Given the description of an element on the screen output the (x, y) to click on. 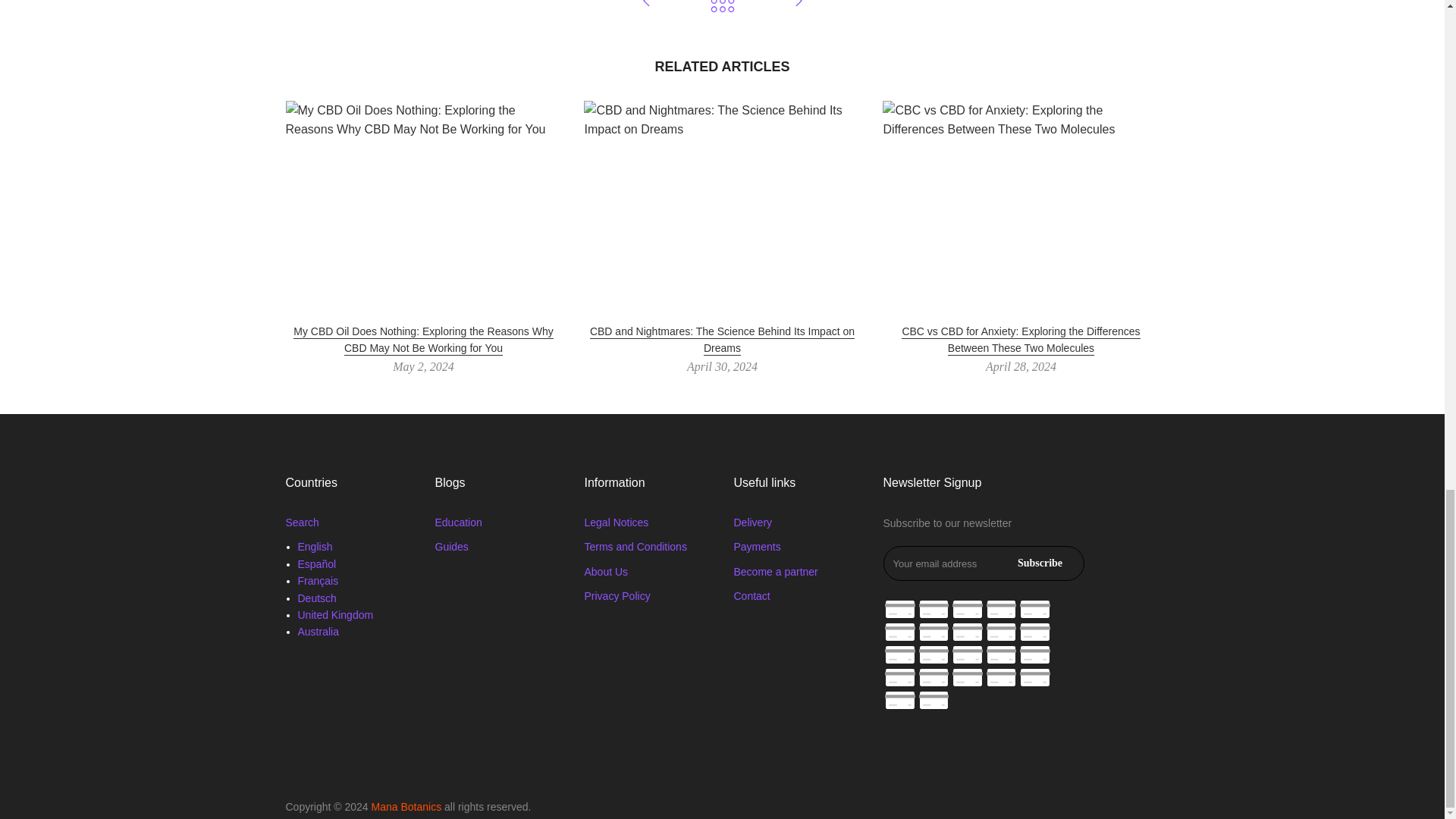
Back to education (722, 9)
CBD and Nightmares: The Science Behind Its Impact on Dreams (721, 340)
Does CBD Smell Like Weed? The Terpenes Connection (646, 9)
